Given the description of an element on the screen output the (x, y) to click on. 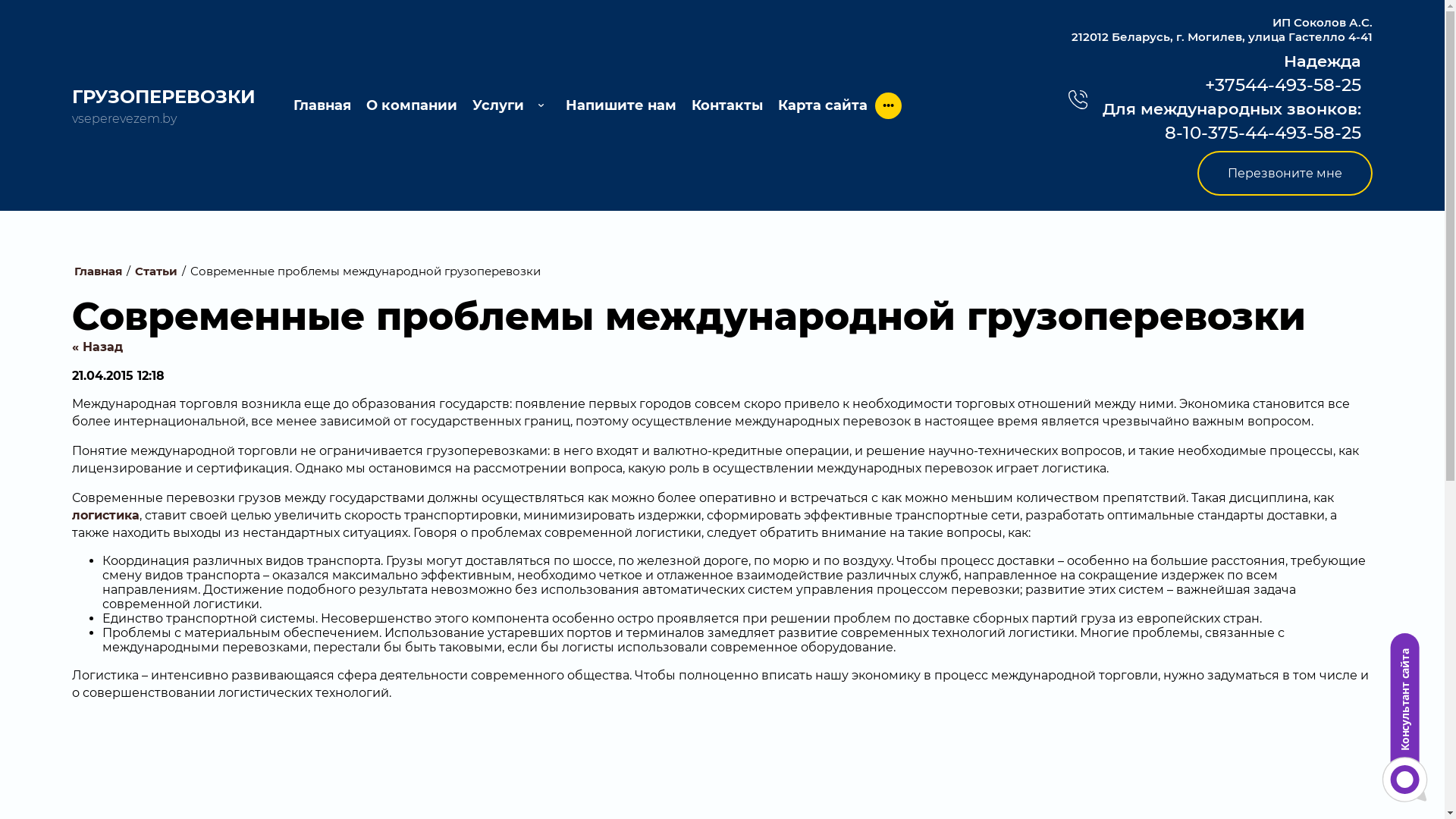
+37544-493-58-25 Element type: text (1231, 84)
8-10-375-44-493-58-25 Element type: text (1231, 132)
... Element type: text (888, 105)
